Given the description of an element on the screen output the (x, y) to click on. 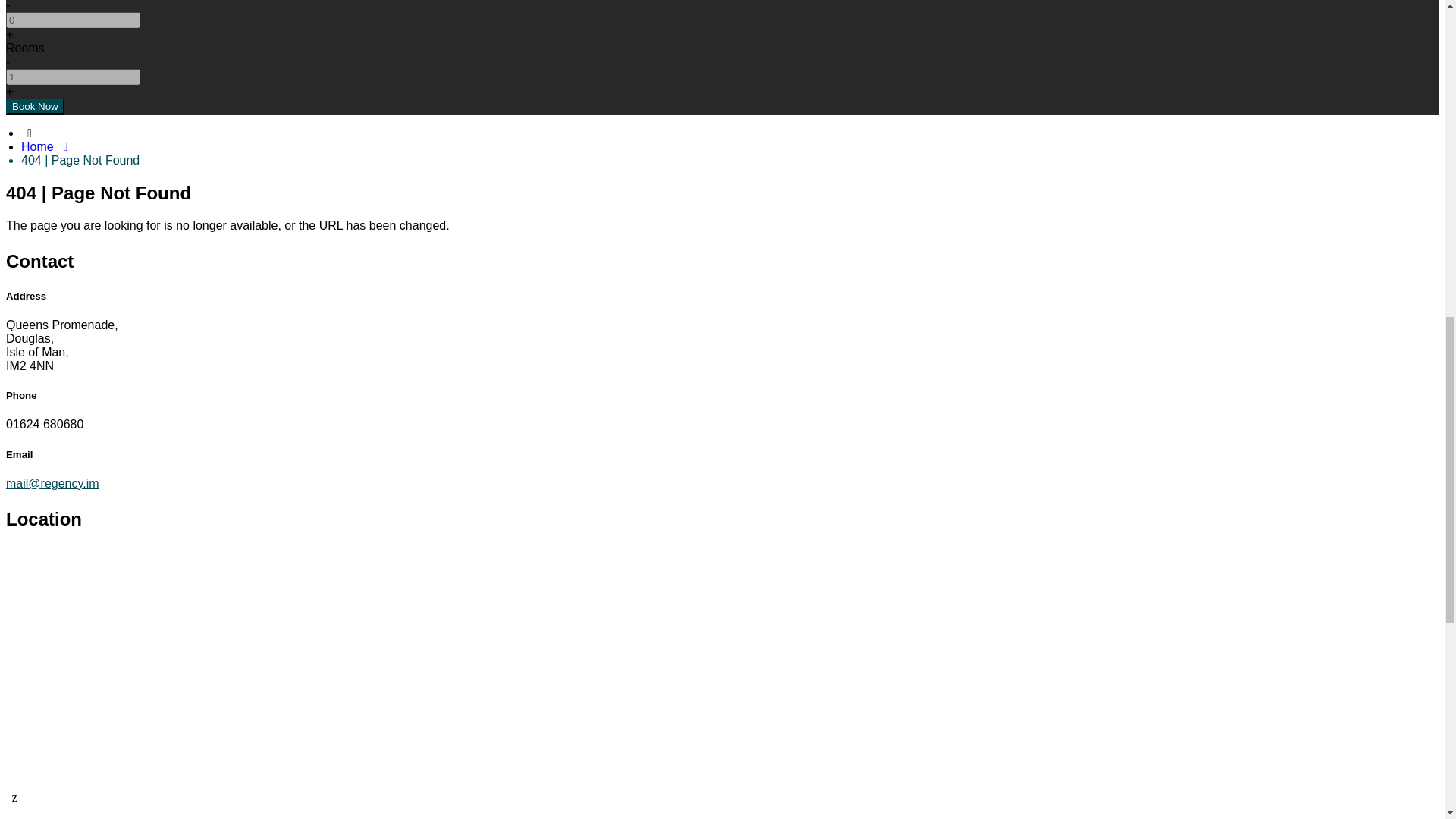
Book Now (34, 106)
1 (72, 76)
0 (72, 19)
Home (47, 146)
Book Now (34, 106)
